Given the description of an element on the screen output the (x, y) to click on. 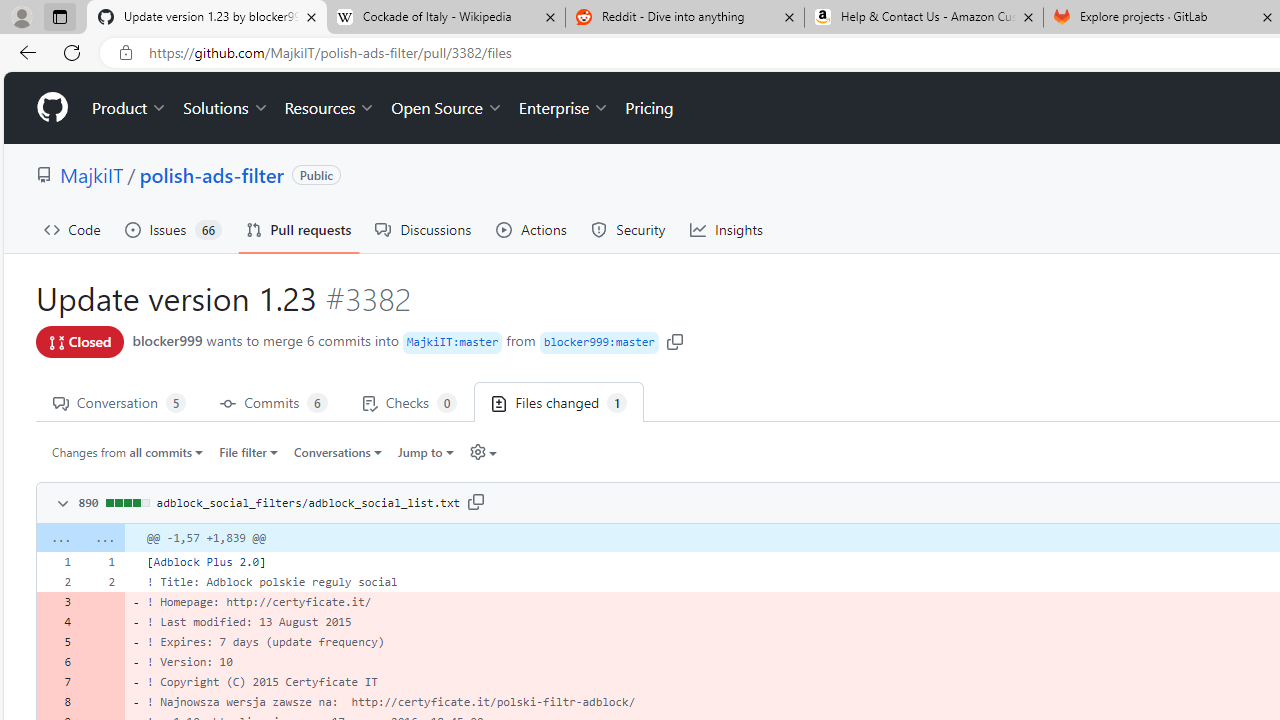
5 (58, 642)
Original file line number (63, 555)
4 (58, 622)
Code (71, 229)
Issues 66 (173, 229)
Discussions (424, 229)
 Commits 6 (274, 401)
Code (71, 229)
Help & Contact Us - Amazon Customer Service (924, 17)
Security (628, 229)
Actions (531, 229)
Jump to (426, 451)
